Given the description of an element on the screen output the (x, y) to click on. 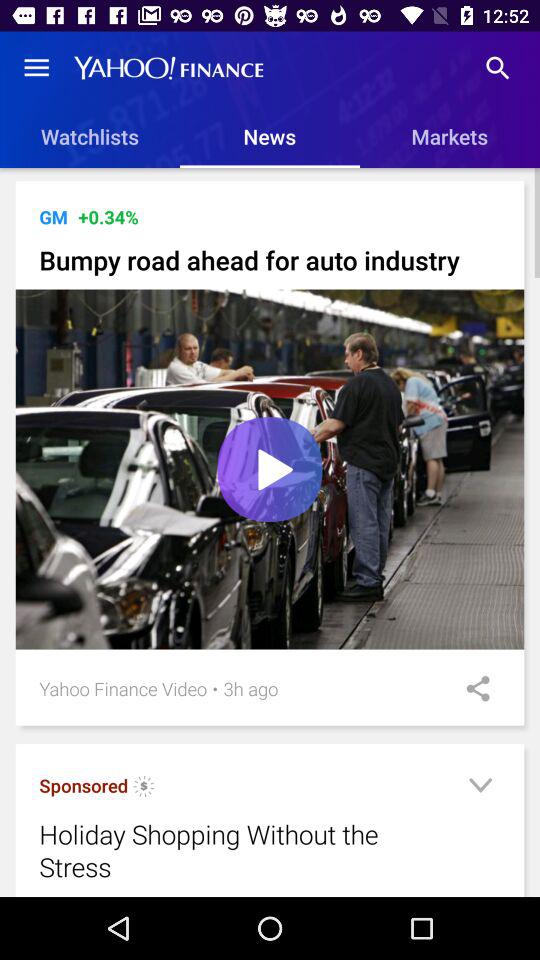
turn off icon to the right of gm (108, 216)
